Given the description of an element on the screen output the (x, y) to click on. 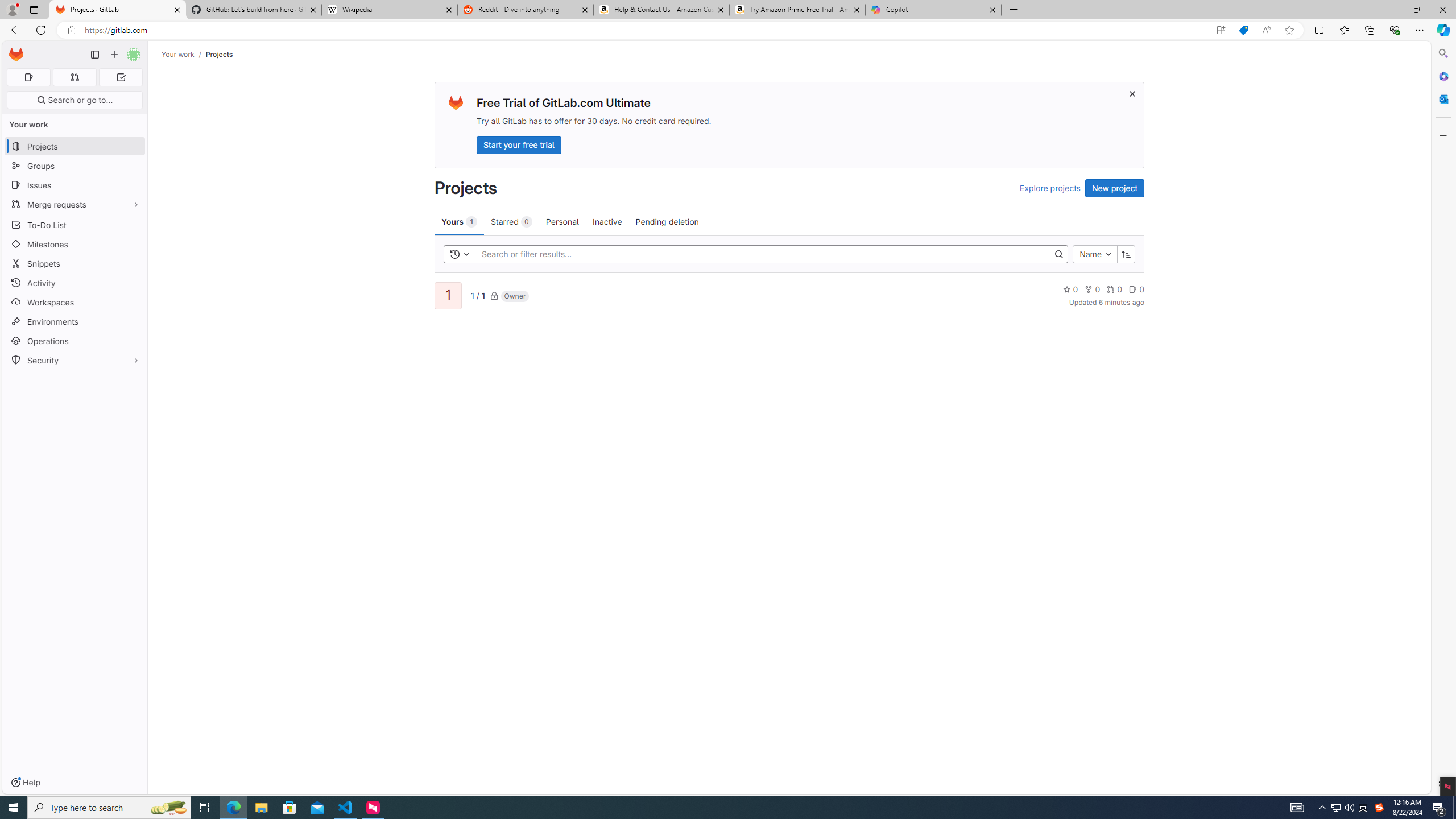
Toggle history (460, 253)
1 / 1 (477, 294)
Security (74, 359)
Class: s14 gl-mr-2 (1132, 289)
11 / 1Owner0000Updated 6 minutes ago (788, 295)
Explore projects (1049, 187)
Environments (74, 321)
